Given the description of an element on the screen output the (x, y) to click on. 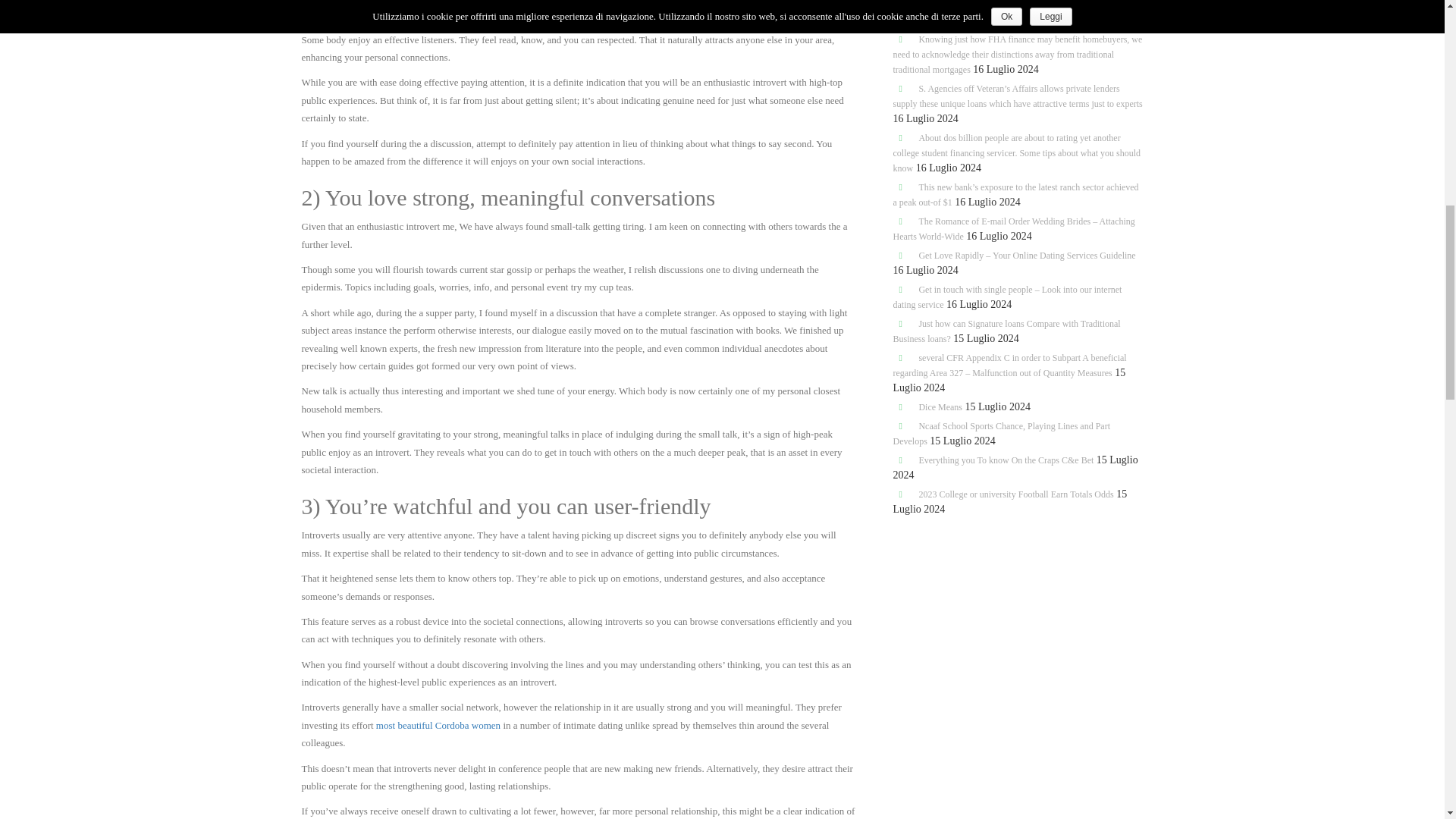
Dice Means (940, 407)
Ncaaf School Sports Chance, Playing Lines and Part Develops (1001, 433)
most beautiful Cordoba women (437, 725)
2023 College or university Football Earn Totals Odds (1015, 493)
